Given the description of an element on the screen output the (x, y) to click on. 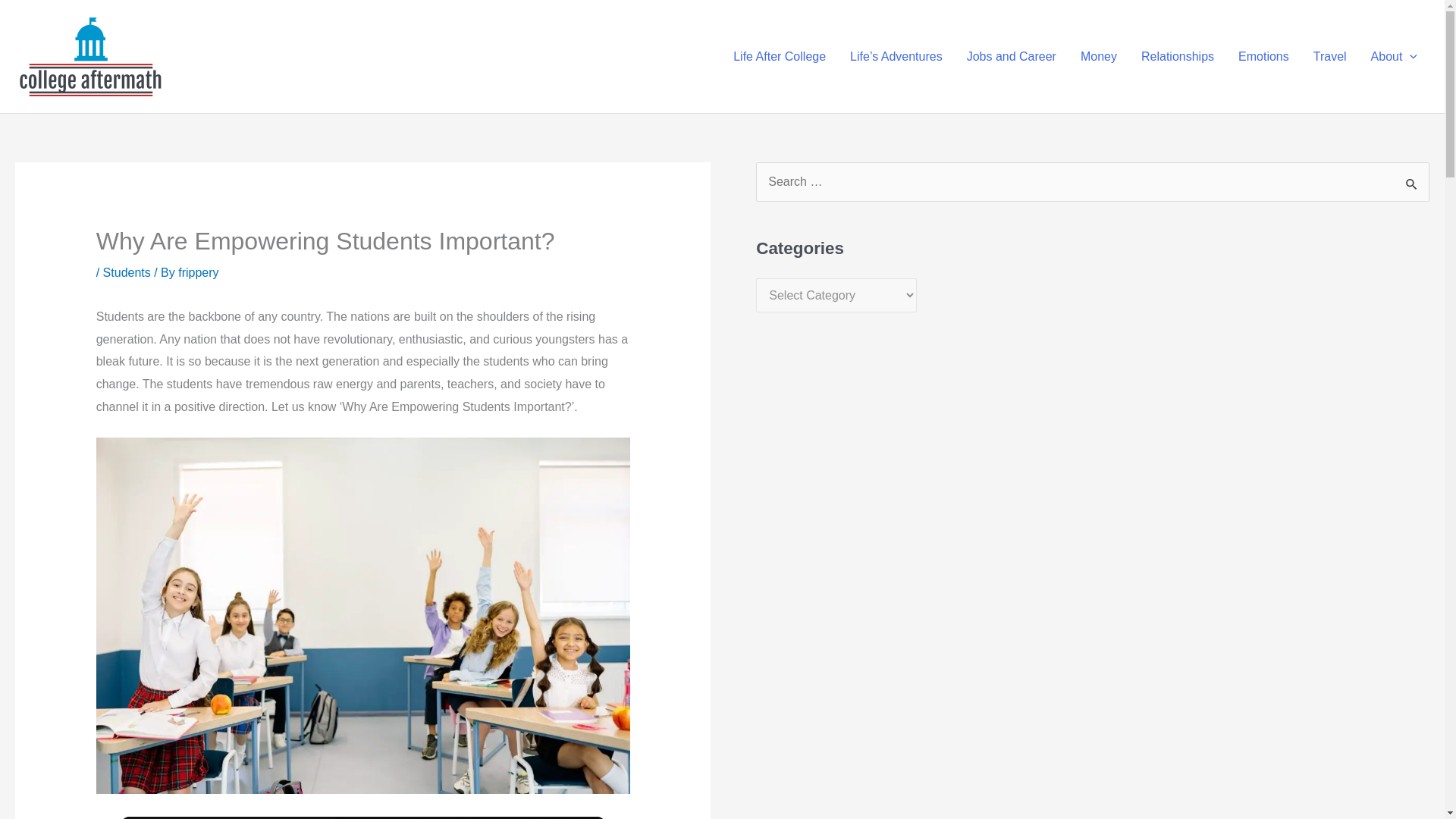
Money (1098, 56)
Travel (1329, 56)
About (1393, 56)
Relationships (1177, 56)
Jobs and Career (1011, 56)
share (575, 817)
Life After College (779, 56)
Search (1411, 183)
Search (1411, 183)
View all posts by frippery (197, 272)
Emotions (1263, 56)
